Given the description of an element on the screen output the (x, y) to click on. 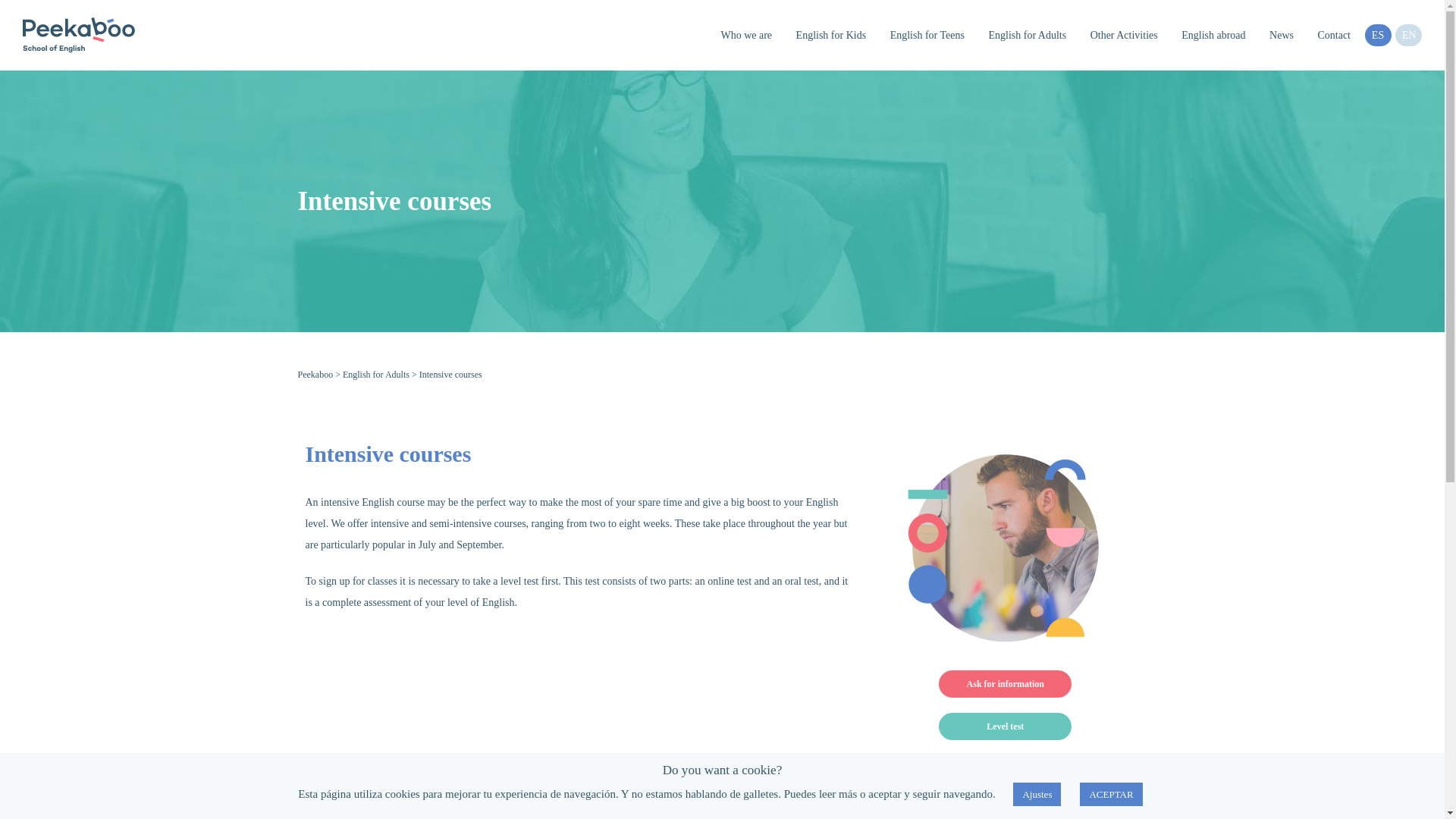
News (1281, 35)
ES (1378, 34)
English abroad (1213, 35)
foto-intensivas (1005, 549)
Who we are (745, 35)
English for Teens (927, 35)
EN (1408, 34)
Other Activities (1123, 35)
Contact (1333, 35)
English for Adults (1026, 35)
